Given the description of an element on the screen output the (x, y) to click on. 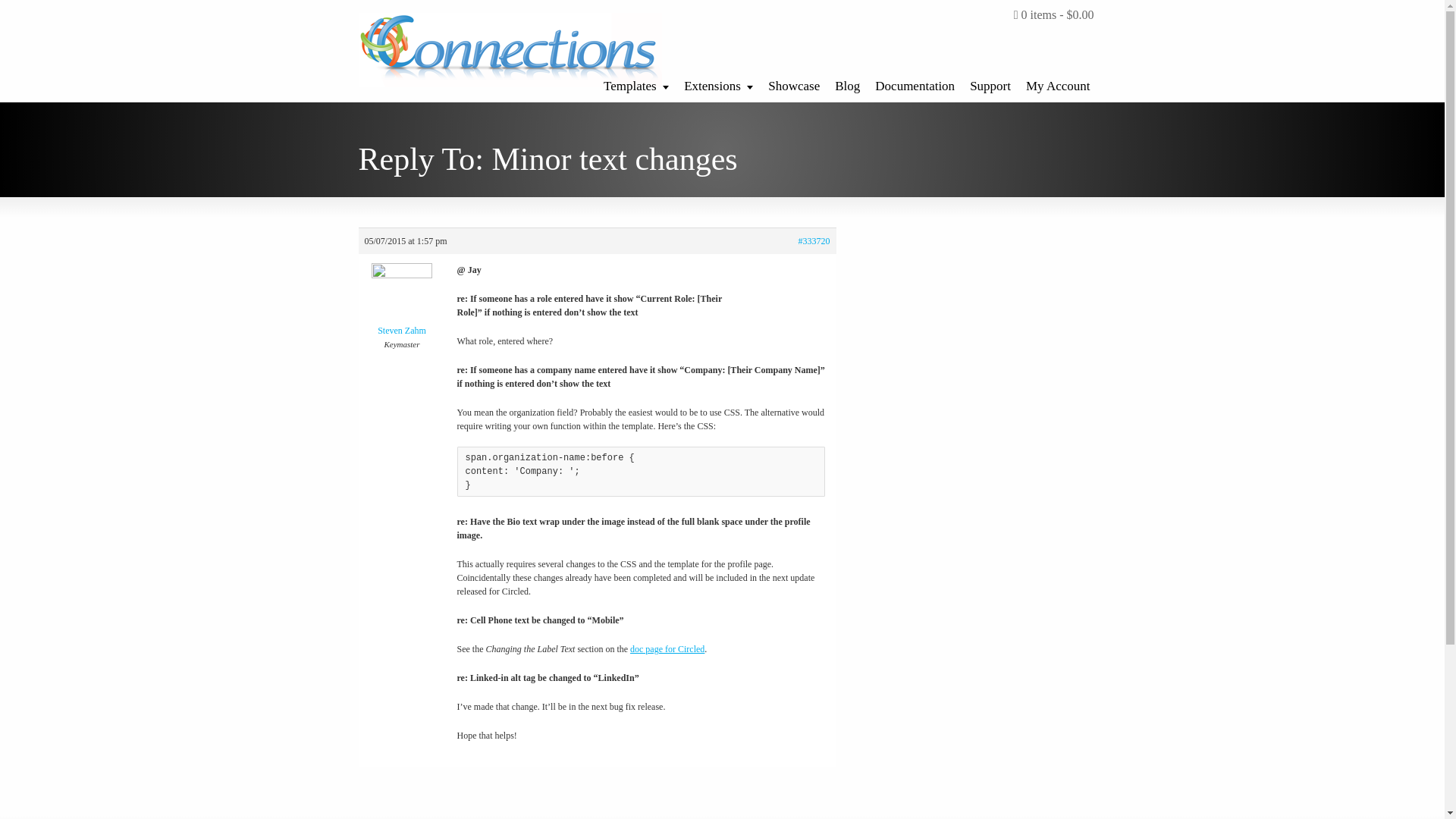
Showcase (793, 81)
My Account (1057, 81)
Extensions (718, 81)
Documentation (914, 81)
View Steven Zahm's profile (401, 303)
doc page for Circled (667, 648)
Templates (636, 81)
Start shopping (1053, 14)
Support (989, 81)
Steven Zahm (401, 303)
